Given the description of an element on the screen output the (x, y) to click on. 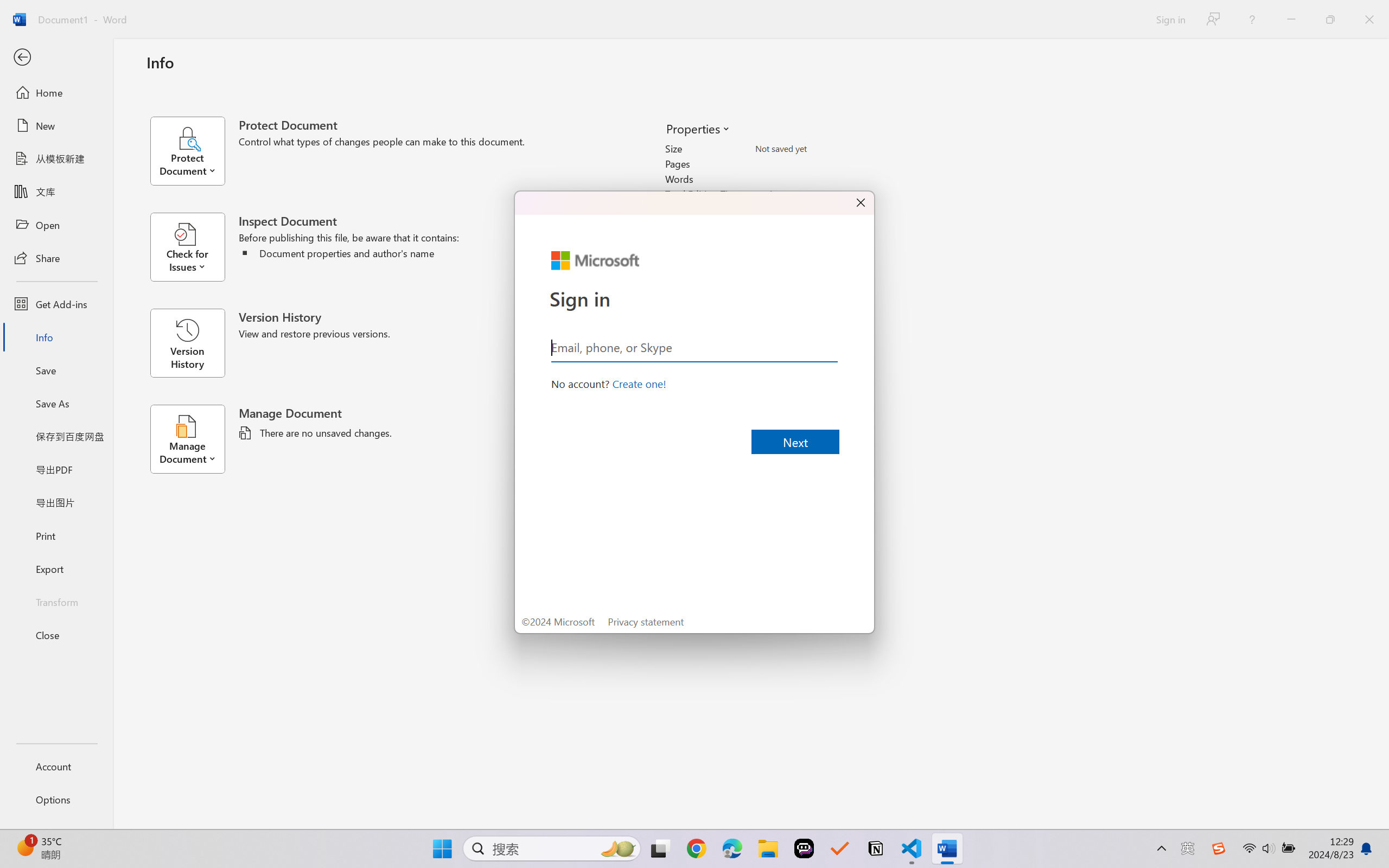
Microsoft Edge (731, 848)
Sign in (1170, 18)
Pages (818, 163)
